Given the description of an element on the screen output the (x, y) to click on. 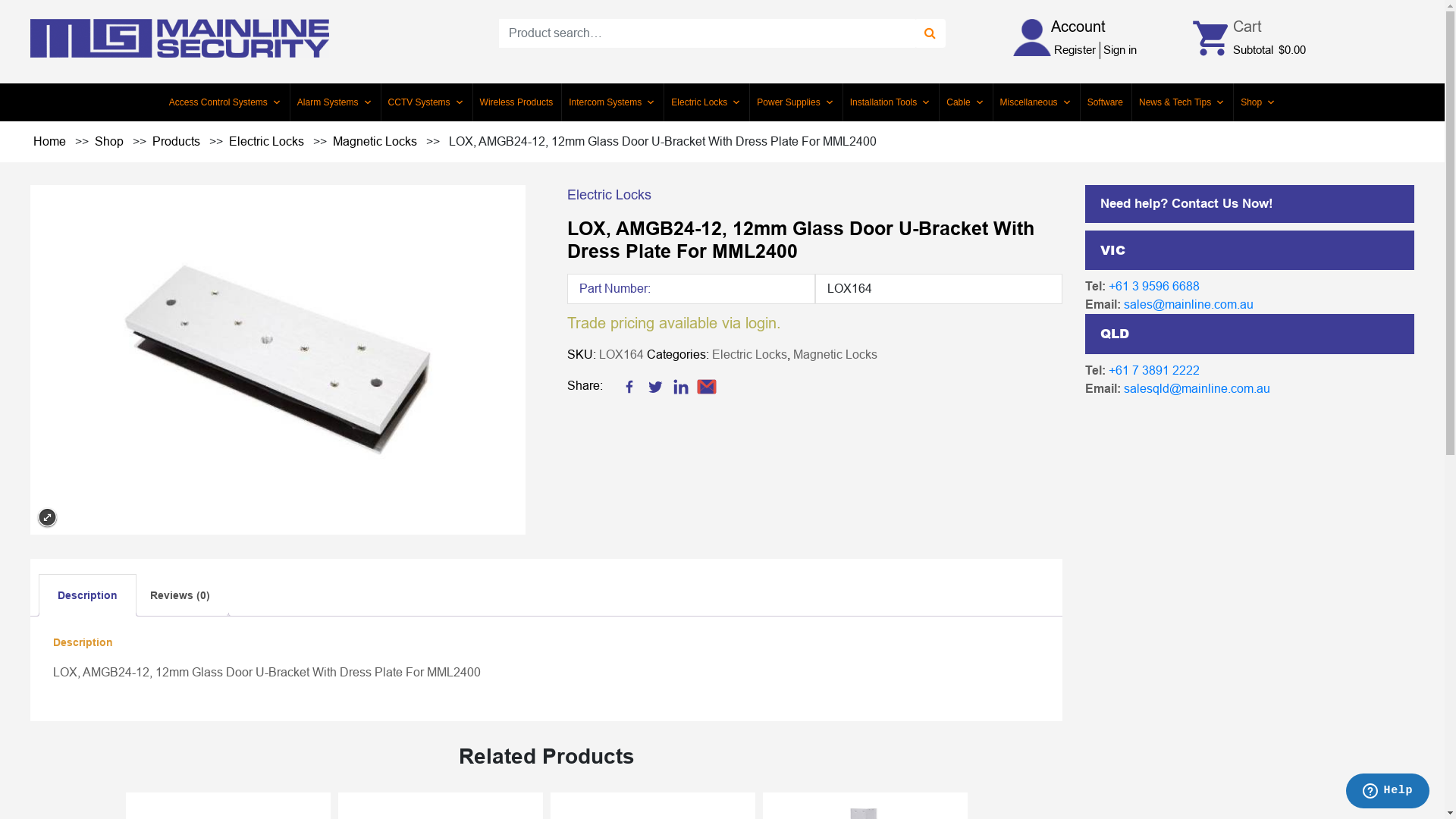
Electric Locks Element type: text (609, 193)
Software Element type: text (1104, 102)
Miscellaneous Element type: text (1035, 102)
Twitter Element type: hover (654, 385)
Account Element type: text (1078, 26)
Shop Element type: text (110, 140)
Description Element type: text (87, 594)
Magnetic Locks Element type: text (835, 353)
Linkedin Element type: hover (680, 385)
Shop Element type: text (1258, 102)
sales@mainline.com.au Element type: text (1188, 304)
Cable Element type: text (964, 102)
Electric Locks Element type: text (268, 140)
Electric Locks Element type: text (705, 102)
+61 7 3891 2222 Element type: text (1153, 370)
Expand Element type: text (46, 517)
+61 3 9596 6688 Element type: text (1153, 285)
Alarm Systems Element type: text (334, 102)
CCTV Systems Element type: text (425, 102)
Facebook Element type: hover (629, 385)
shopping_cart
Cart
Subtotal$0.00 Element type: text (1248, 38)
Intercom Systems Element type: text (611, 102)
Electric Locks Element type: text (749, 353)
LOX, AMGB4-12 Glass Door Bracket (EM3500M) Element type: hover (277, 359)
Wireless Products Element type: text (516, 102)
Magnetic Locks Element type: text (376, 140)
Opens a widget where you can chat to one of our agents Element type: hover (1387, 792)
Access Control Systems Element type: text (224, 102)
Installation Tools Element type: text (890, 102)
Google Gmail Element type: hover (706, 385)
salesqld@mainline.com.au Element type: text (1196, 388)
Home Element type: text (51, 140)
Power Supplies Element type: text (794, 102)
Products Element type: text (177, 140)
Sign in Element type: text (1119, 49)
Register Element type: text (1074, 49)
News & Tech Tips Element type: text (1181, 102)
Reviews (0) Element type: text (180, 594)
